Given the description of an element on the screen output the (x, y) to click on. 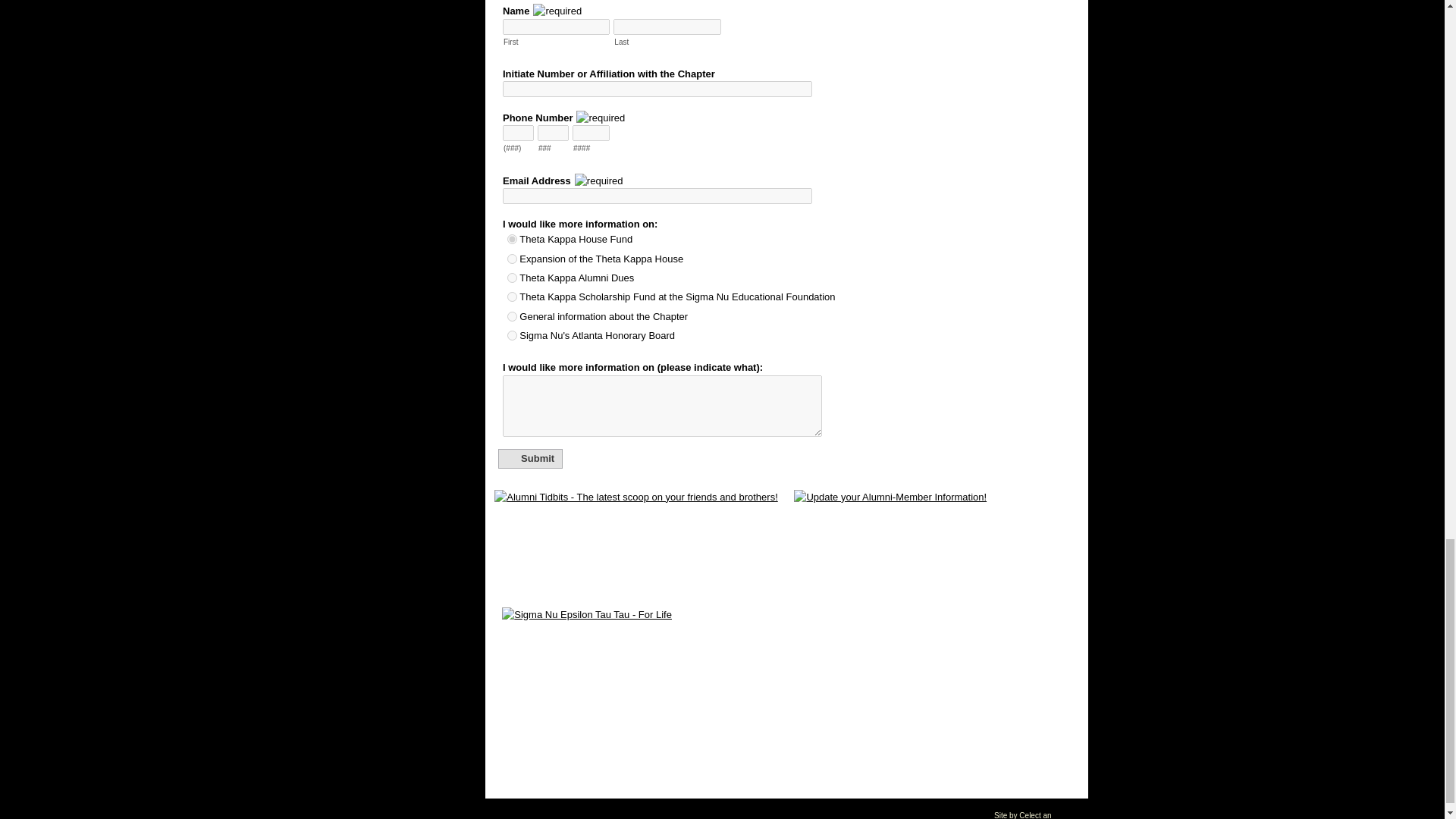
14400:0 (511, 296)
Update your Alumni-Member Information! (935, 533)
14401:0 (511, 316)
Sigma Nu Epsilon Tau Tau - For Life (786, 695)
Sigma Nu Epsilon Tau Tau - Theta Kappa For Life (786, 695)
14397:0 (511, 258)
77927:0 (511, 335)
14396:0 (511, 239)
Update you Alumni Info! (936, 533)
14398:0 (511, 277)
